Given the description of an element on the screen output the (x, y) to click on. 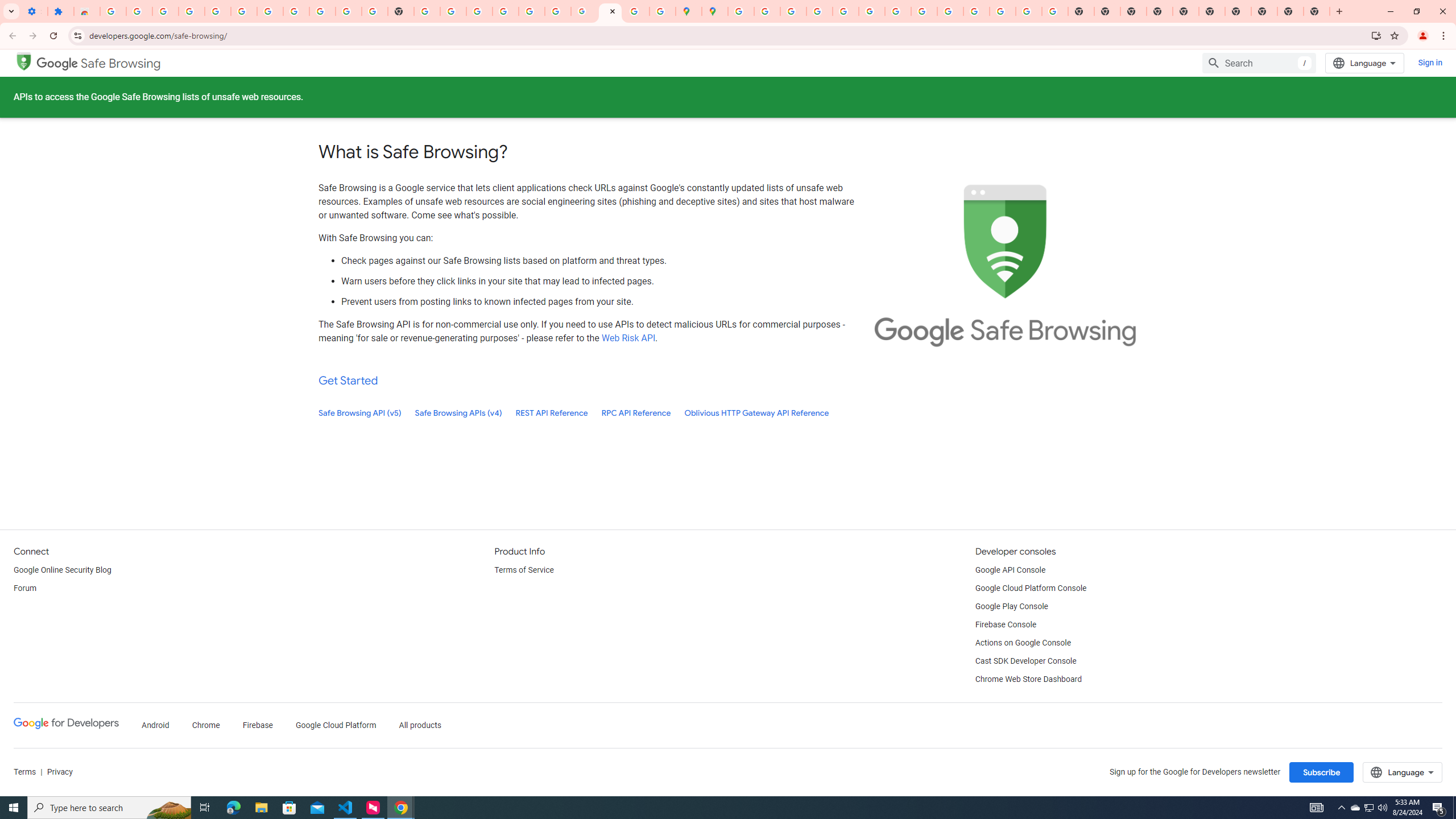
RPC API Reference (635, 412)
Web Risk API (628, 337)
Sign in - Google Accounts (269, 11)
Google Safe Browsing (23, 60)
Browse Chrome as a guest - Computer - Google Chrome Help (923, 11)
Subscribe (1322, 772)
Oblivious HTTP Gateway API Reference (756, 412)
Actions on Google Console (1023, 642)
All products (420, 725)
